Given the description of an element on the screen output the (x, y) to click on. 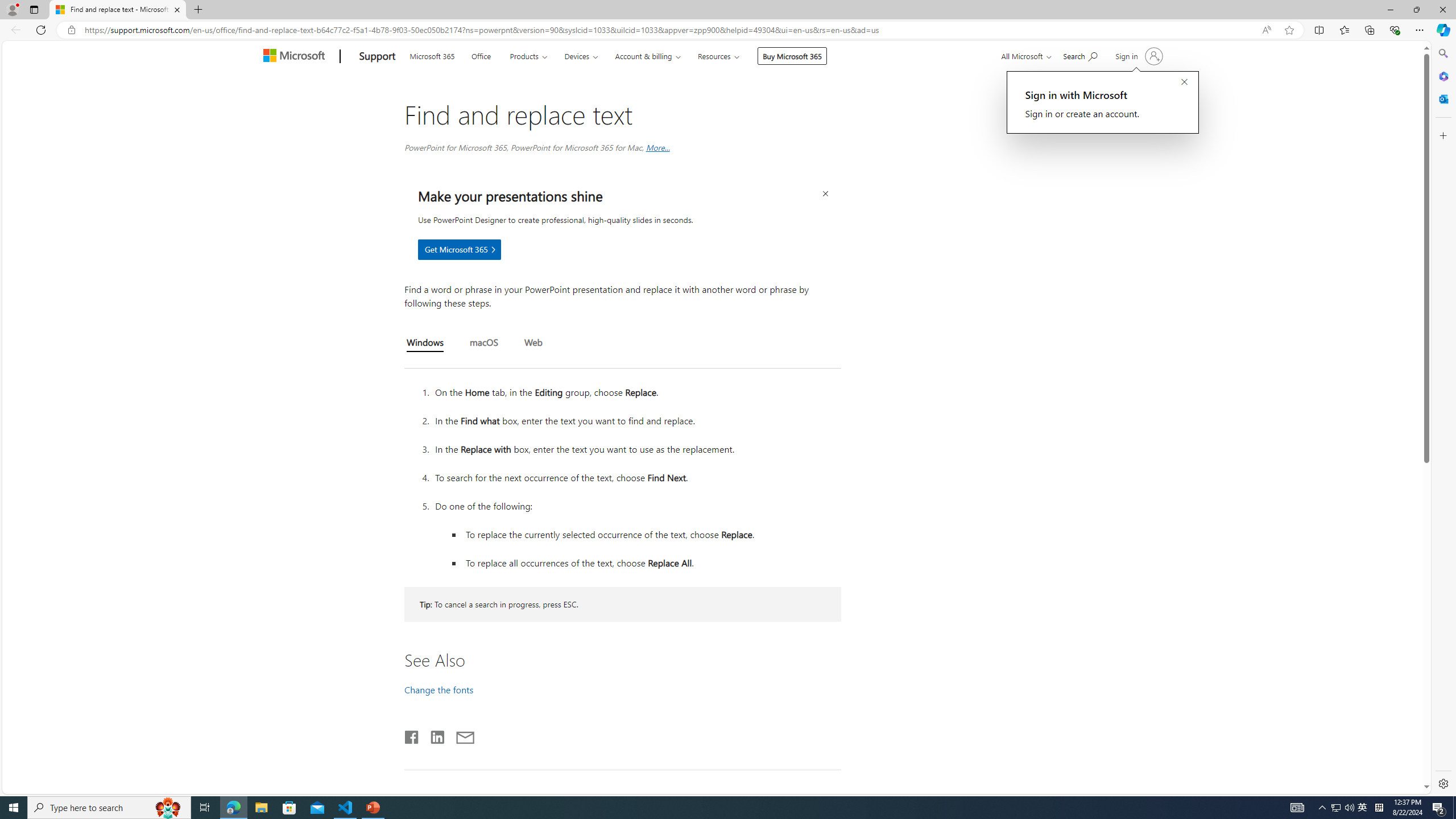
Share by email (459, 735)
Share on LinkedIn (432, 735)
Buy Microsoft 365 (792, 55)
Browser essentials (1394, 29)
Buy Microsoft 365 (792, 55)
Close Ad (825, 193)
Back (13, 29)
Make your presentations shine Get Microsoft 365 (458, 249)
Settings (1442, 783)
Refresh (40, 29)
Facebook (411, 735)
